Given the description of an element on the screen output the (x, y) to click on. 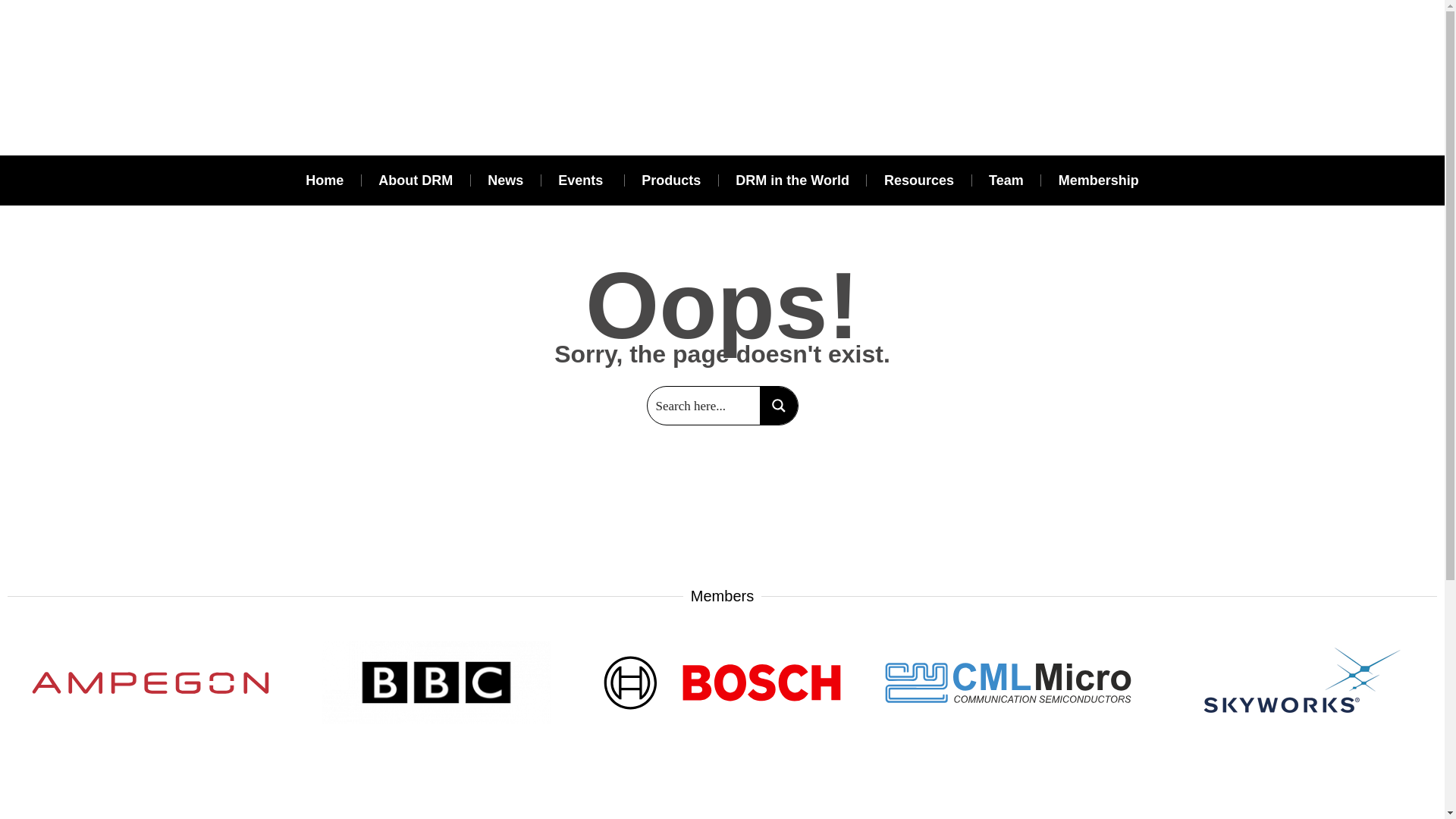
About DRM (414, 180)
Resources (919, 180)
Events  (582, 180)
DRM in the World (792, 180)
Products (671, 180)
Home (323, 180)
News (504, 180)
